Given the description of an element on the screen output the (x, y) to click on. 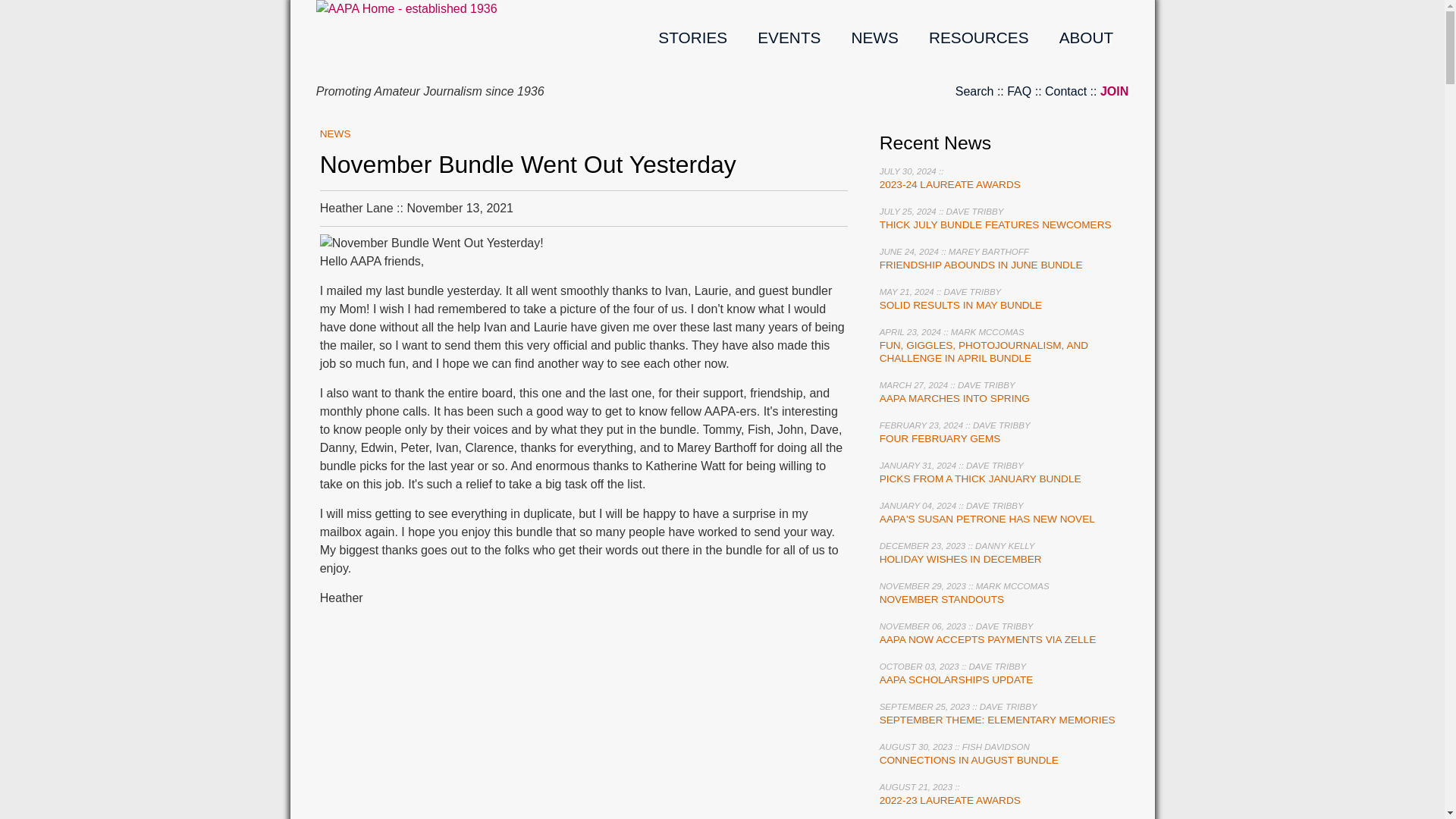
AAPA SCHOLARSHIPS UPDATE (956, 679)
STORIES (692, 36)
FUN, GIGGLES, PHOTOJOURNALISM, AND CHALLENGE IN APRIL BUNDLE (983, 351)
ABOUT (1086, 36)
Search (974, 91)
2023-24 LAUREATE AWARDS (949, 184)
SOLID RESULTS IN MAY BUNDLE (960, 305)
SEPTEMBER THEME: ELEMENTARY MEMORIES (997, 719)
THICK JULY BUNDLE FEATURES NEWCOMERS (995, 224)
JOIN (1114, 91)
AAPA MARCHES INTO SPRING (954, 398)
PICKS FROM A THICK JANUARY BUNDLE (980, 478)
AAPA'S SUSAN PETRONE HAS NEW NOVEL (986, 518)
FRIENDSHIP ABOUNDS IN JUNE BUNDLE (981, 265)
HOLIDAY WISHES IN DECEMBER (960, 559)
